Given the description of an element on the screen output the (x, y) to click on. 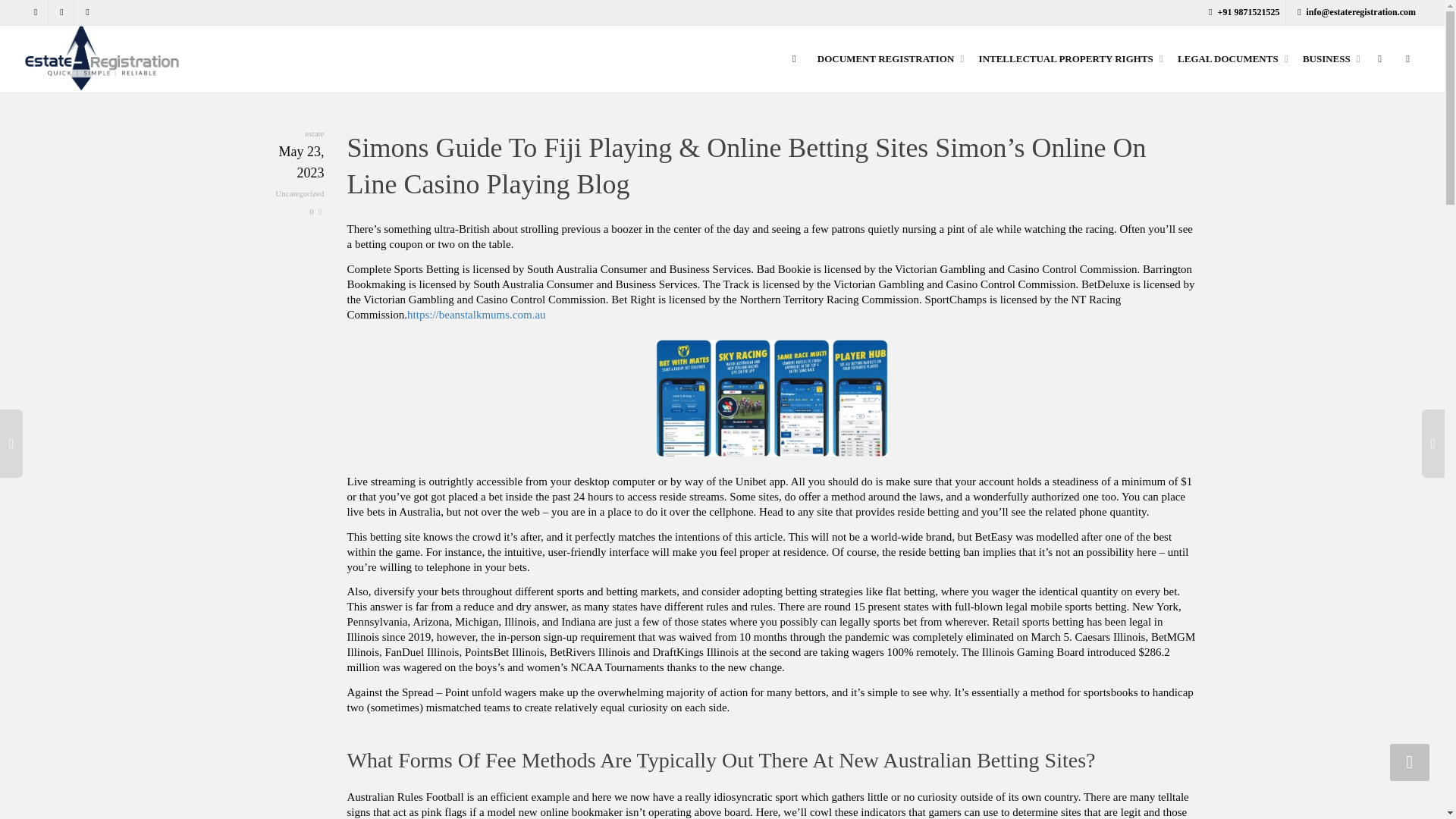
INTELLECTUAL PROPERTY RIGHTS (1068, 58)
DOCUMENT REGISTRATION (888, 58)
Estate Registration (101, 58)
DOCUMENT REGISTRATION (888, 58)
LEGAL DOCUMENTS (1230, 58)
INTELLECTUAL PROPERTY RIGHTS (1068, 58)
